Given the description of an element on the screen output the (x, y) to click on. 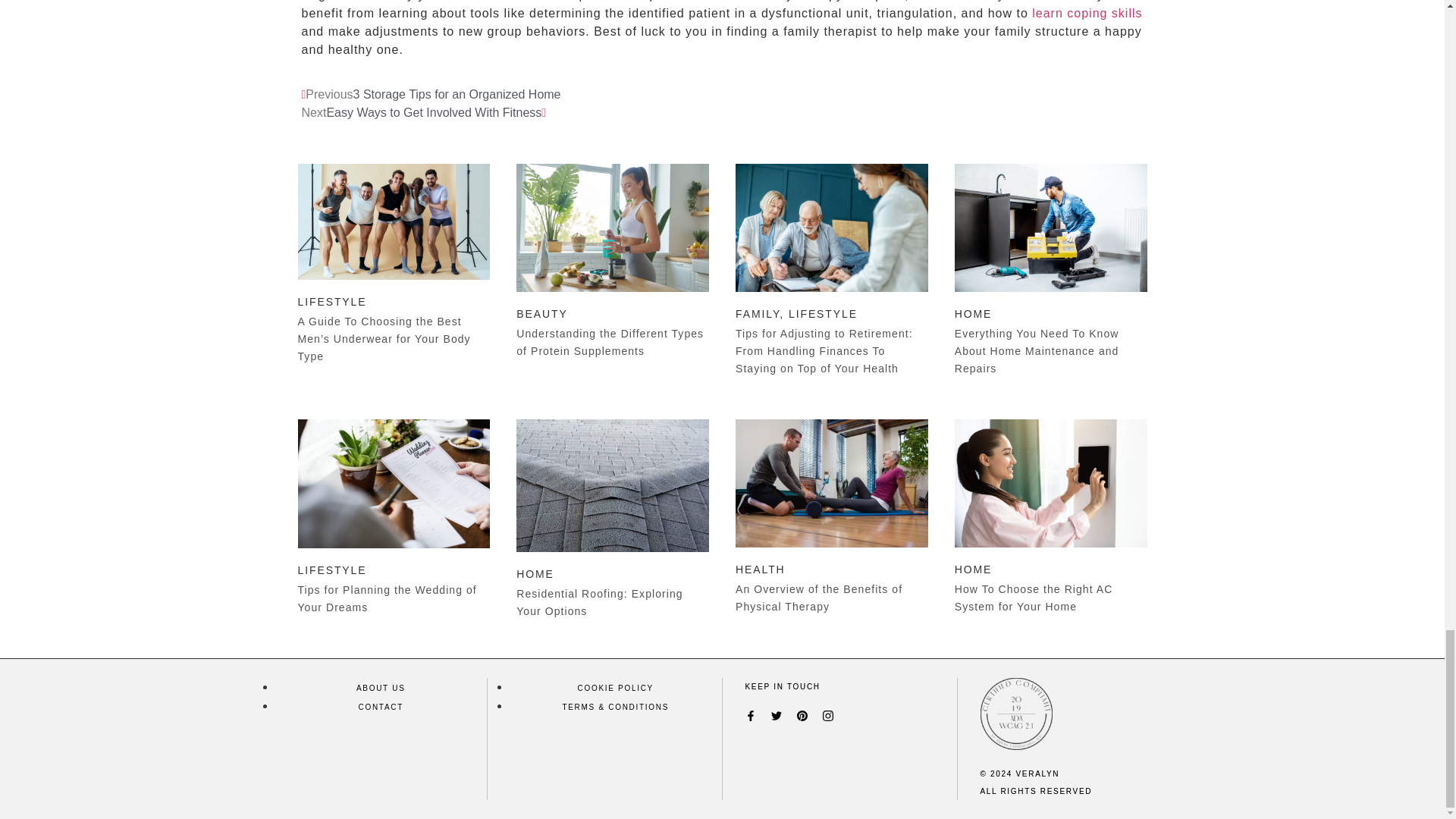
Previous3 Storage Tips for an Organized Home (430, 93)
Tips for Planning the Wedding of Your Dreams (386, 598)
Understanding the Different Types of Protein Supplements (609, 342)
NextEasy Ways to Get Involved With Fitness (424, 112)
LIFESTYLE (331, 301)
LIFESTYLE (331, 570)
BEAUTY (541, 313)
HOME (973, 313)
FAMILY (756, 313)
LIFESTYLE (823, 313)
learn coping skills (1086, 12)
